Given the description of an element on the screen output the (x, y) to click on. 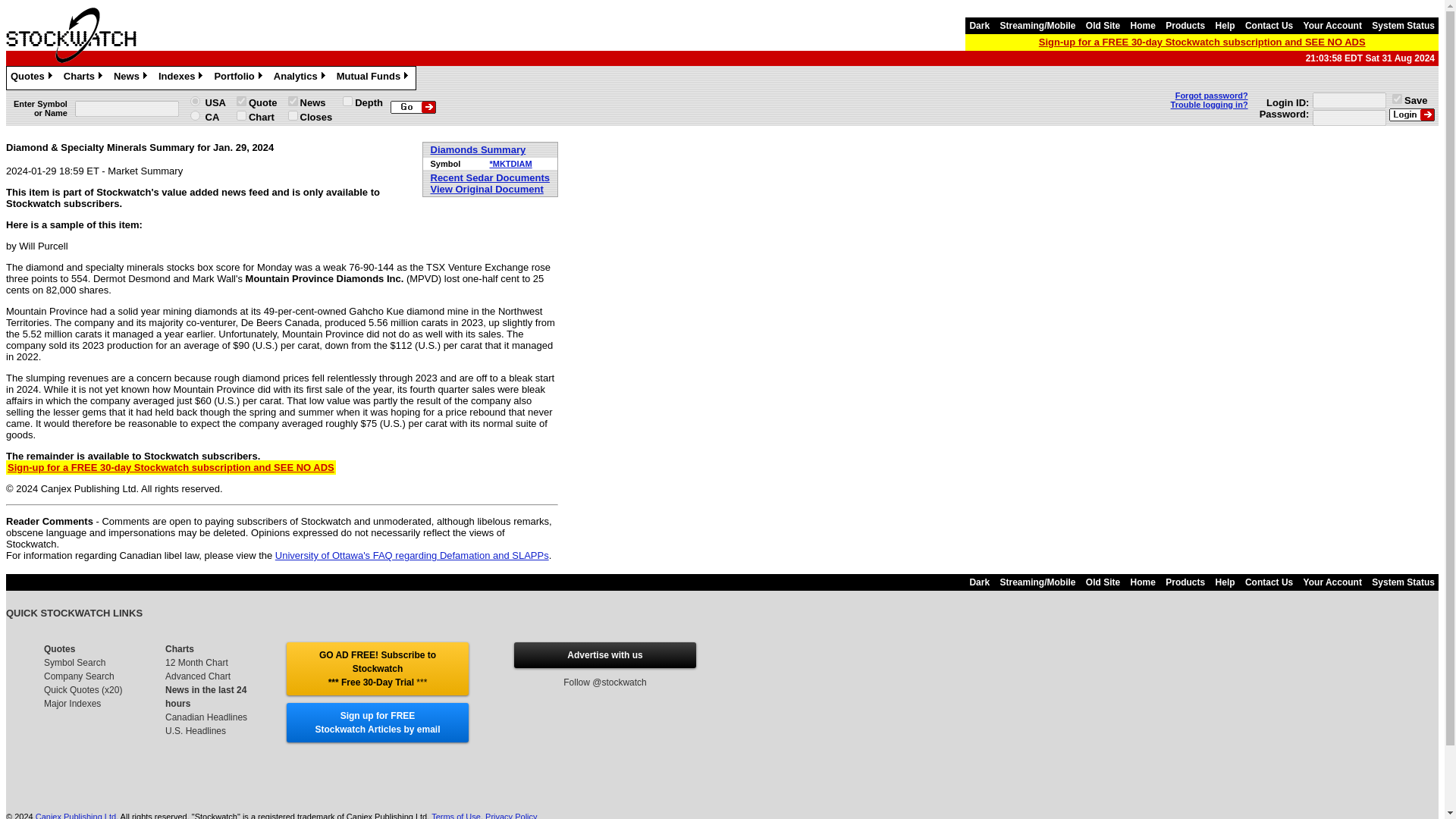
Start with a FREE 30 day trial (376, 668)
on (240, 101)
on (1396, 99)
RadioUS2 (195, 101)
on (347, 101)
on (293, 115)
on (293, 101)
Home (1142, 25)
Your Account (1332, 25)
